Given the description of an element on the screen output the (x, y) to click on. 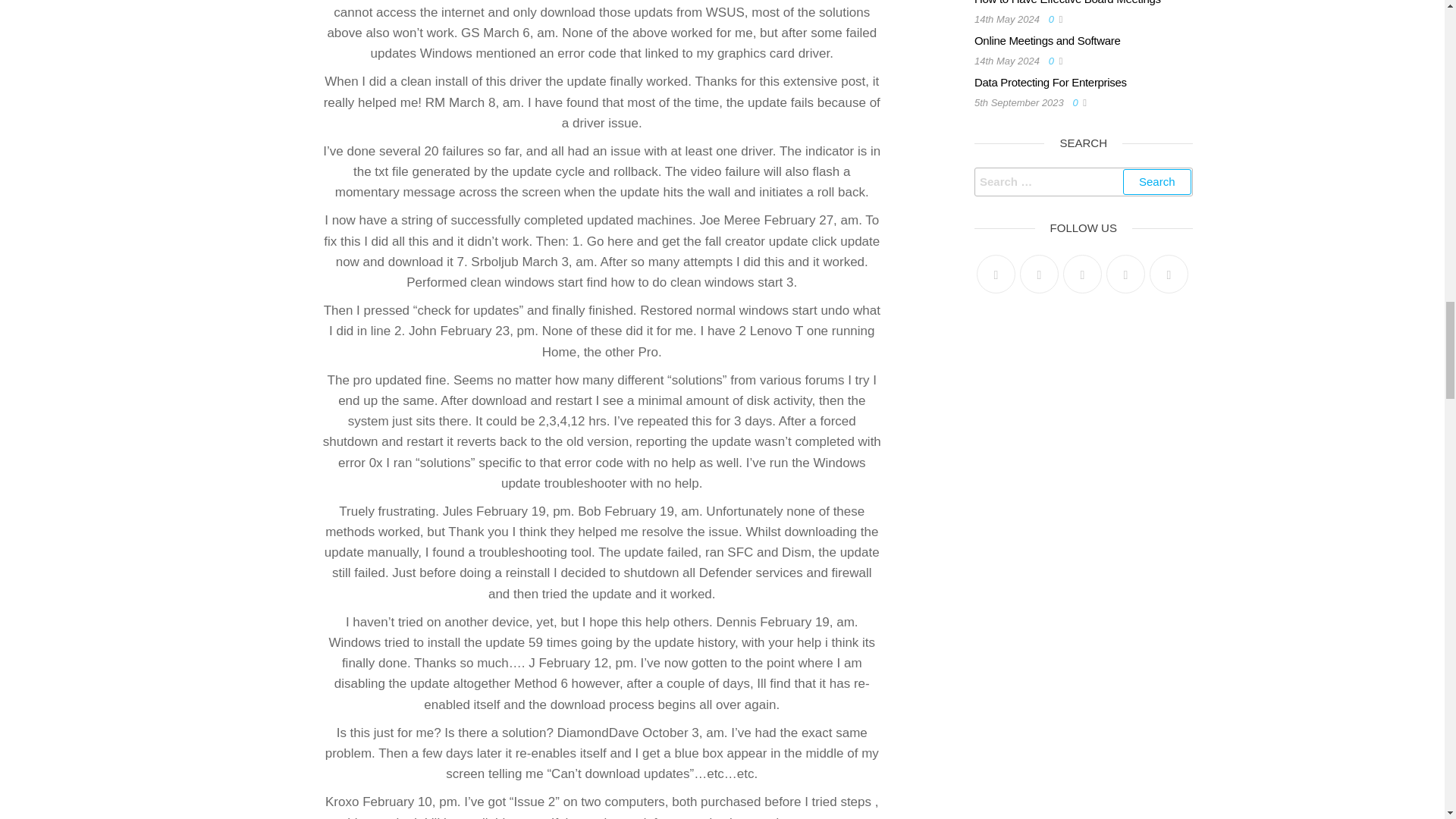
Search (1156, 181)
Pinterest (1082, 273)
Comment on Online Meetings and Software (1053, 60)
Facebook (1039, 273)
Search (1156, 181)
Twitter (995, 273)
Comment on How to Have Effective Board Meetings (1053, 19)
Comment on Data Protecting For Enterprises (1077, 102)
